Given the description of an element on the screen output the (x, y) to click on. 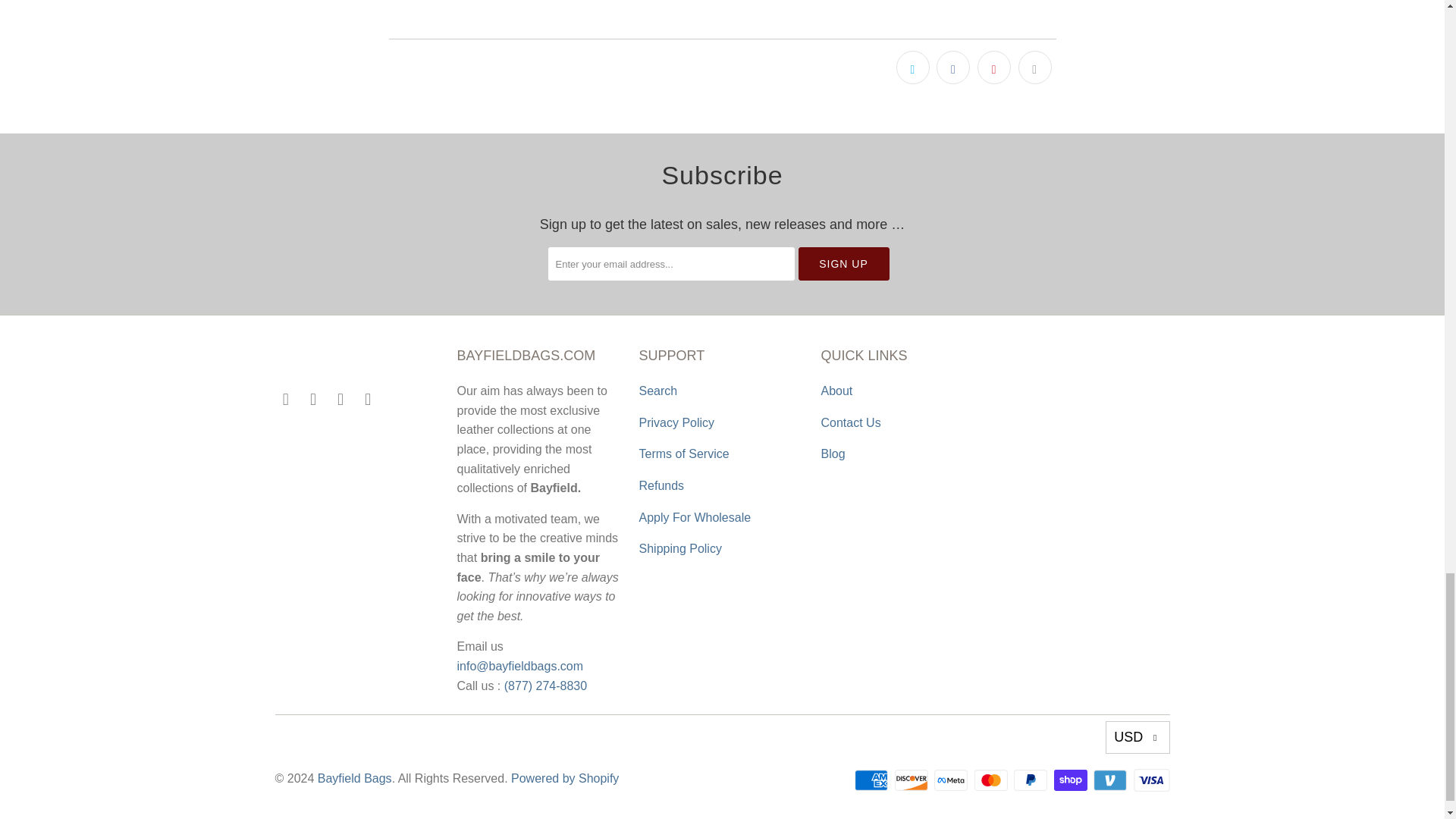
Mastercard (992, 780)
Share this on Facebook (952, 67)
Share this on Twitter (913, 67)
American Express (872, 780)
Venmo (1111, 780)
Visa (1150, 780)
Share this on Pinterest (993, 67)
Discover (913, 780)
Shop Pay (1072, 780)
Meta Pay (952, 780)
